Given the description of an element on the screen output the (x, y) to click on. 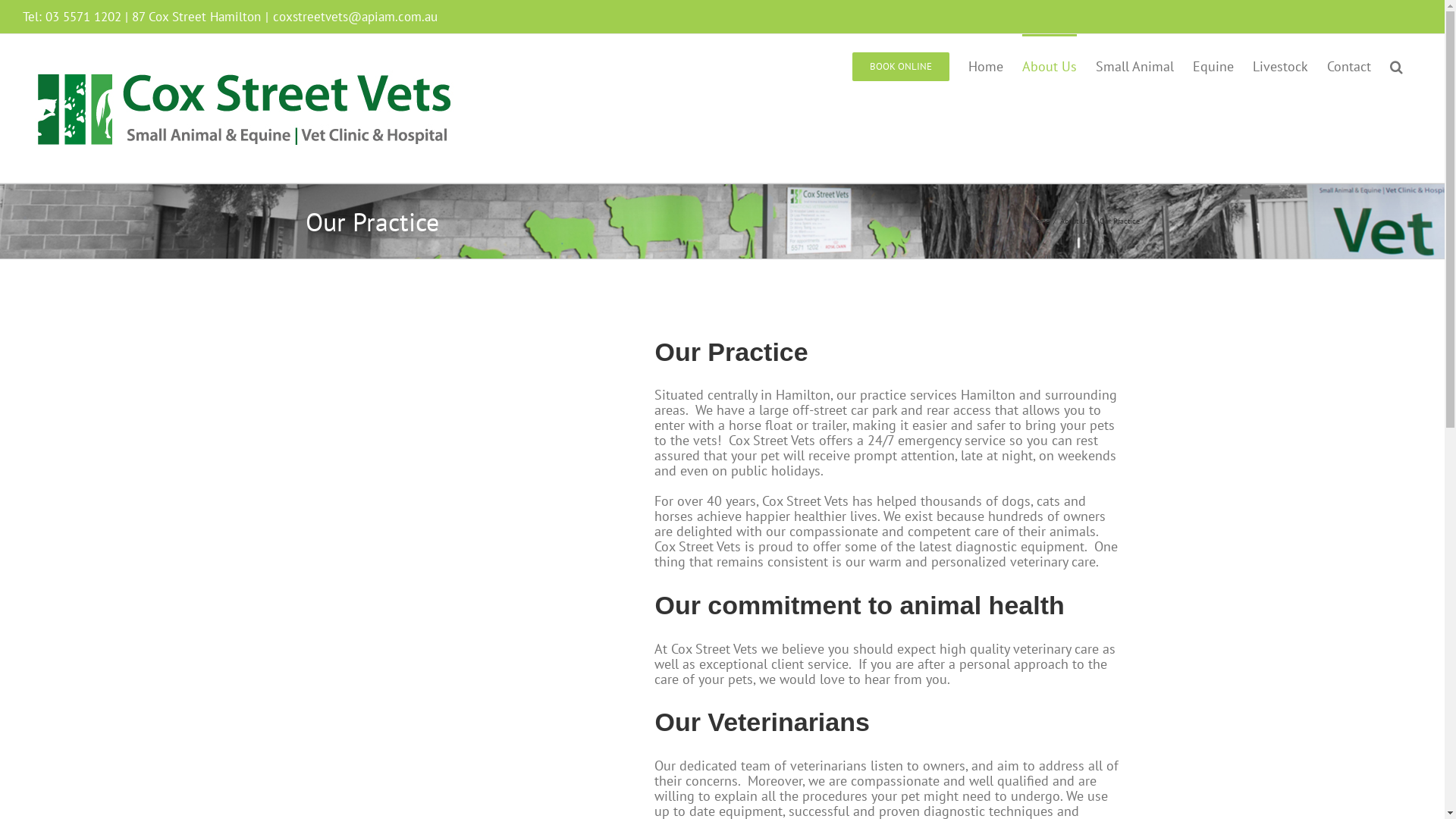
Search Element type: hover (1396, 65)
About Us Element type: text (1074, 220)
Contact Element type: text (1349, 65)
Equine Element type: text (1212, 65)
Home Element type: text (1038, 220)
Small Animal Element type: text (1134, 65)
BOOK ONLINE Element type: text (900, 65)
Home Element type: text (985, 65)
About Us Element type: text (1049, 65)
Livestock Element type: text (1280, 65)
87 Cox Street Hamilton Element type: text (195, 16)
coxstreetvets@apiam.com.au Element type: text (355, 16)
